Given the description of an element on the screen output the (x, y) to click on. 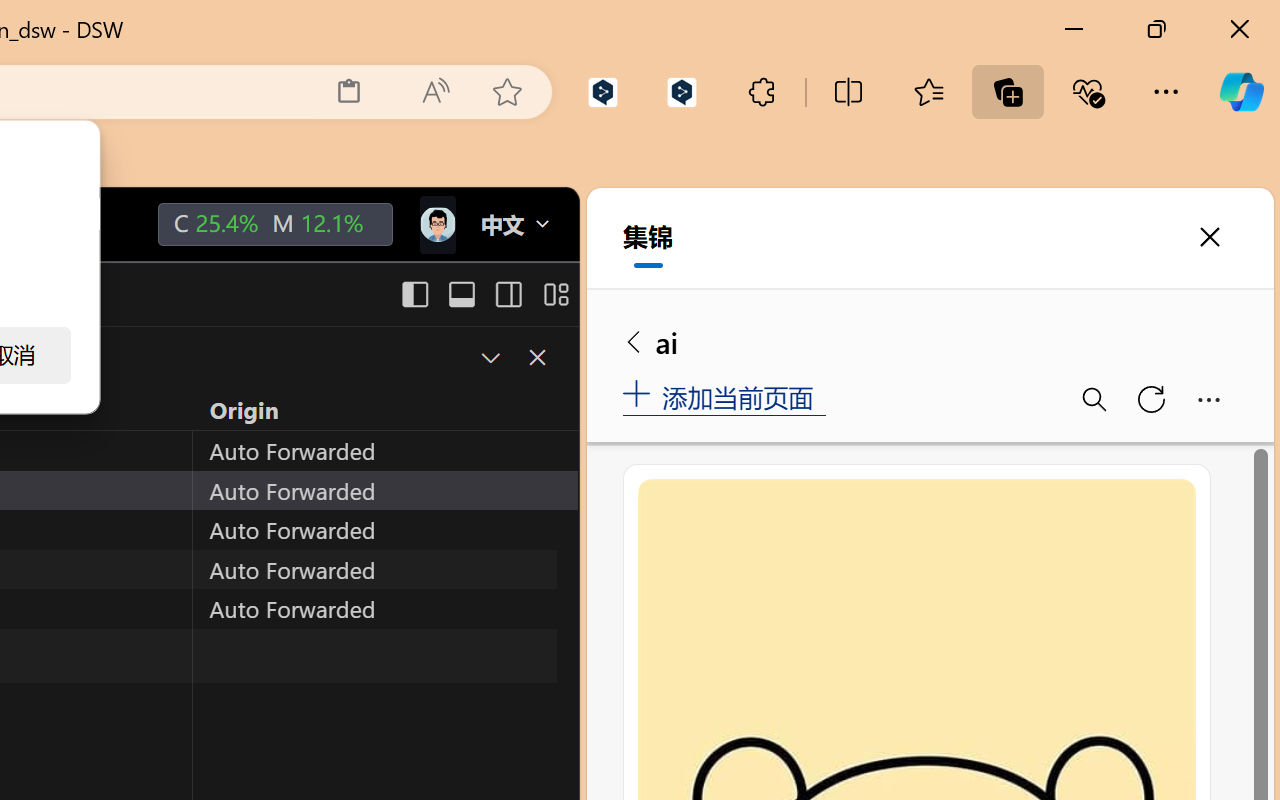
Class: actions-container (516, 358)
Restore Panel Size (488, 357)
Customize Layout... (553, 294)
Title actions (484, 294)
Close Panel (535, 357)
icon (436, 224)
Class: next-menu next-hoz widgets--iconMenu--BFkiHRM (436, 225)
